Given the description of an element on the screen output the (x, y) to click on. 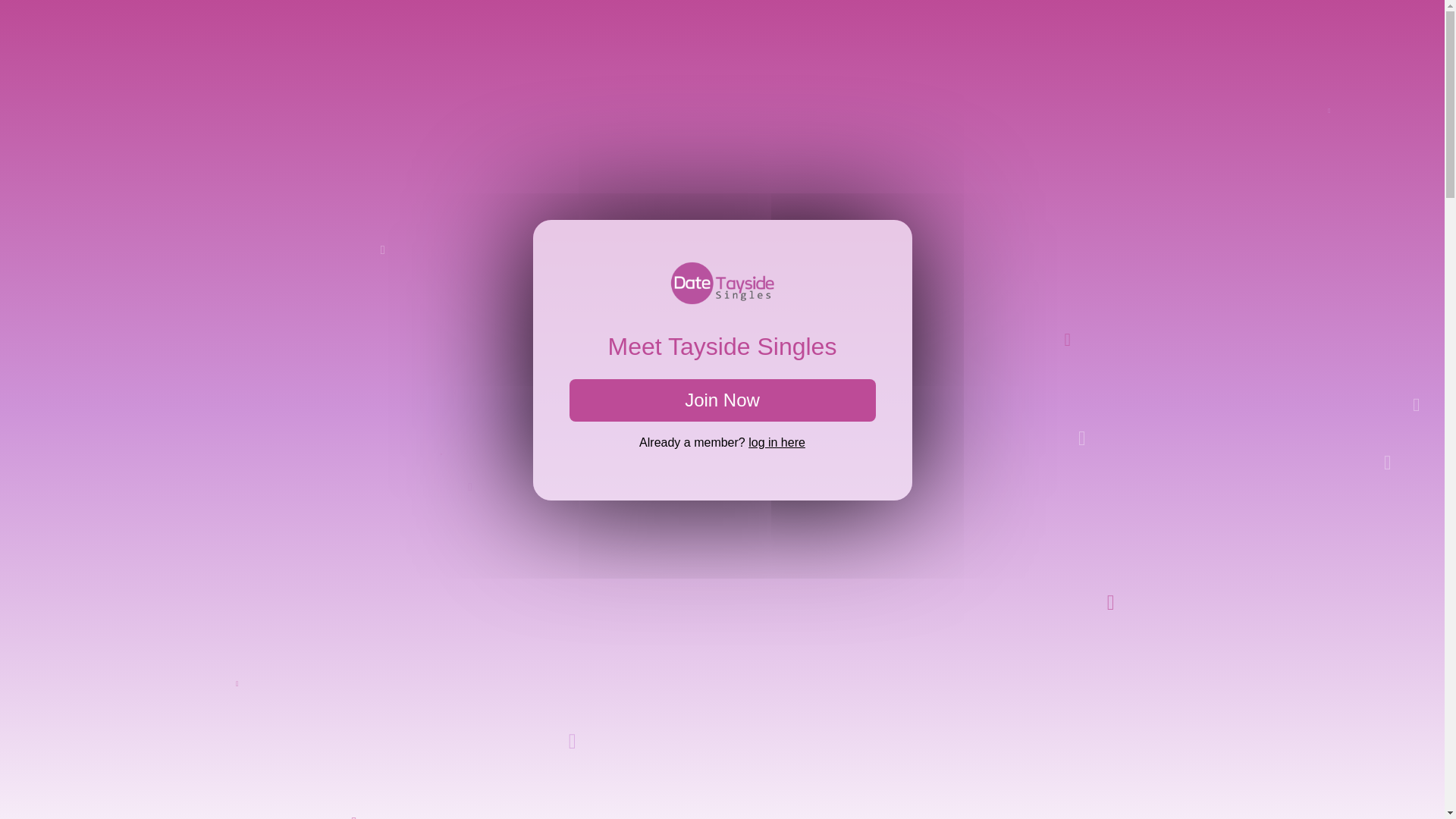
Join Now (722, 400)
log in here (776, 441)
